Given the description of an element on the screen output the (x, y) to click on. 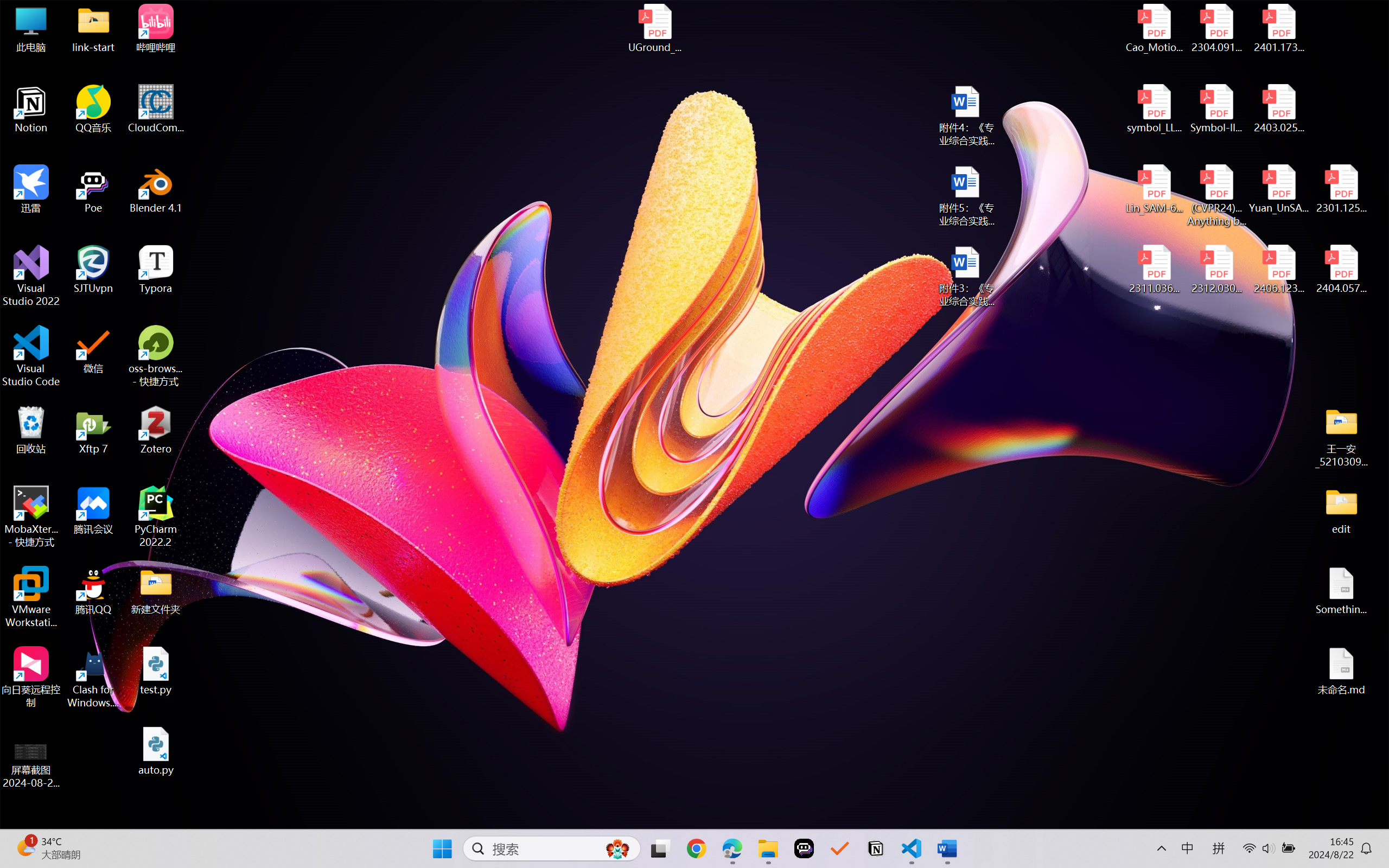
test.py (156, 670)
Symbol-llm-v2.pdf (1216, 109)
VMware Workstation Pro (31, 597)
UGround_paper.pdf (654, 28)
